Given the description of an element on the screen output the (x, y) to click on. 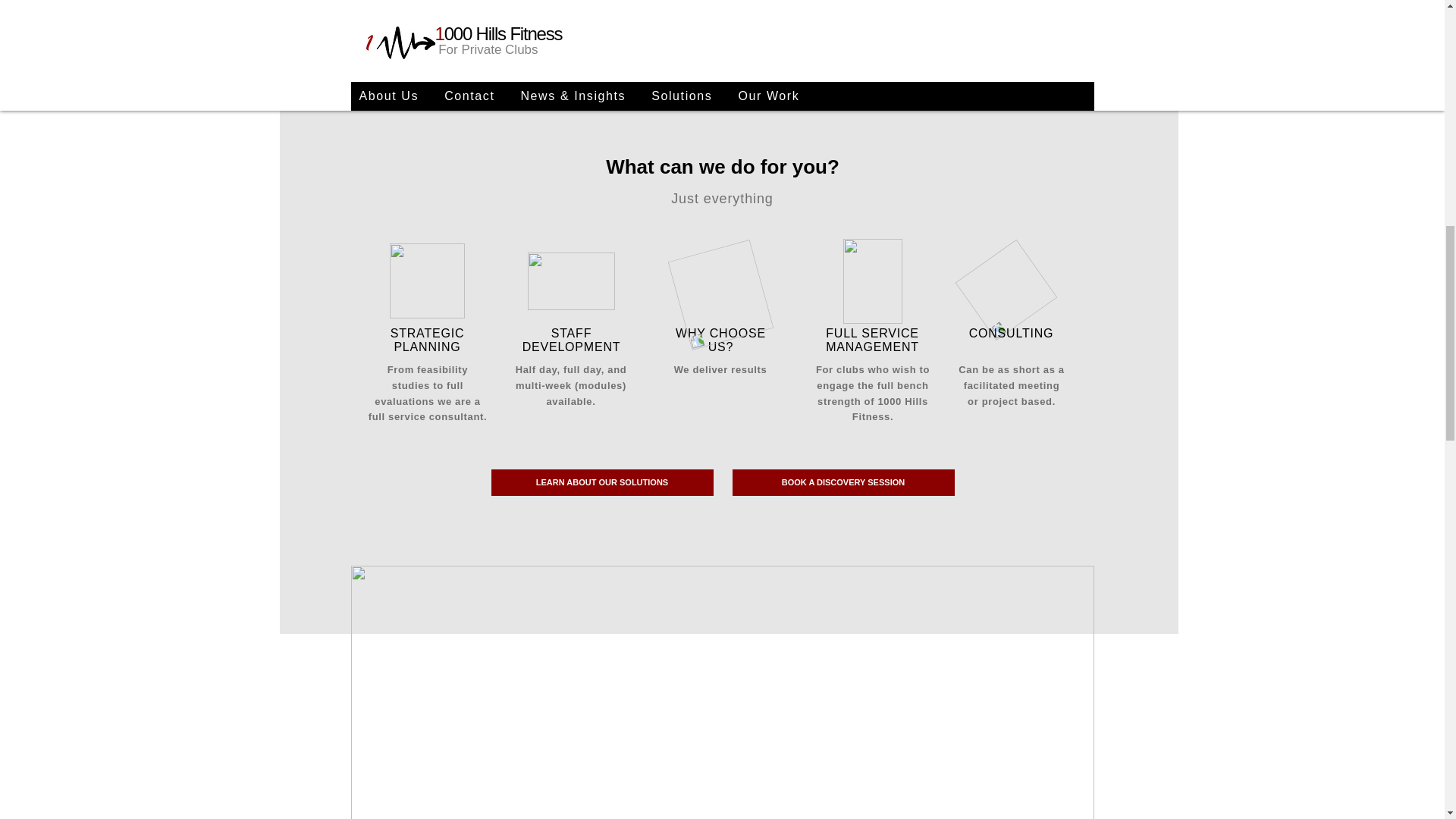
CONTACT US (841, 14)
LEARN ABOUT OUR SOLUTIONS (602, 482)
SEE HOW WE WORK (600, 14)
BOOK A DISCOVERY SESSION (843, 482)
